Given the description of an element on the screen output the (x, y) to click on. 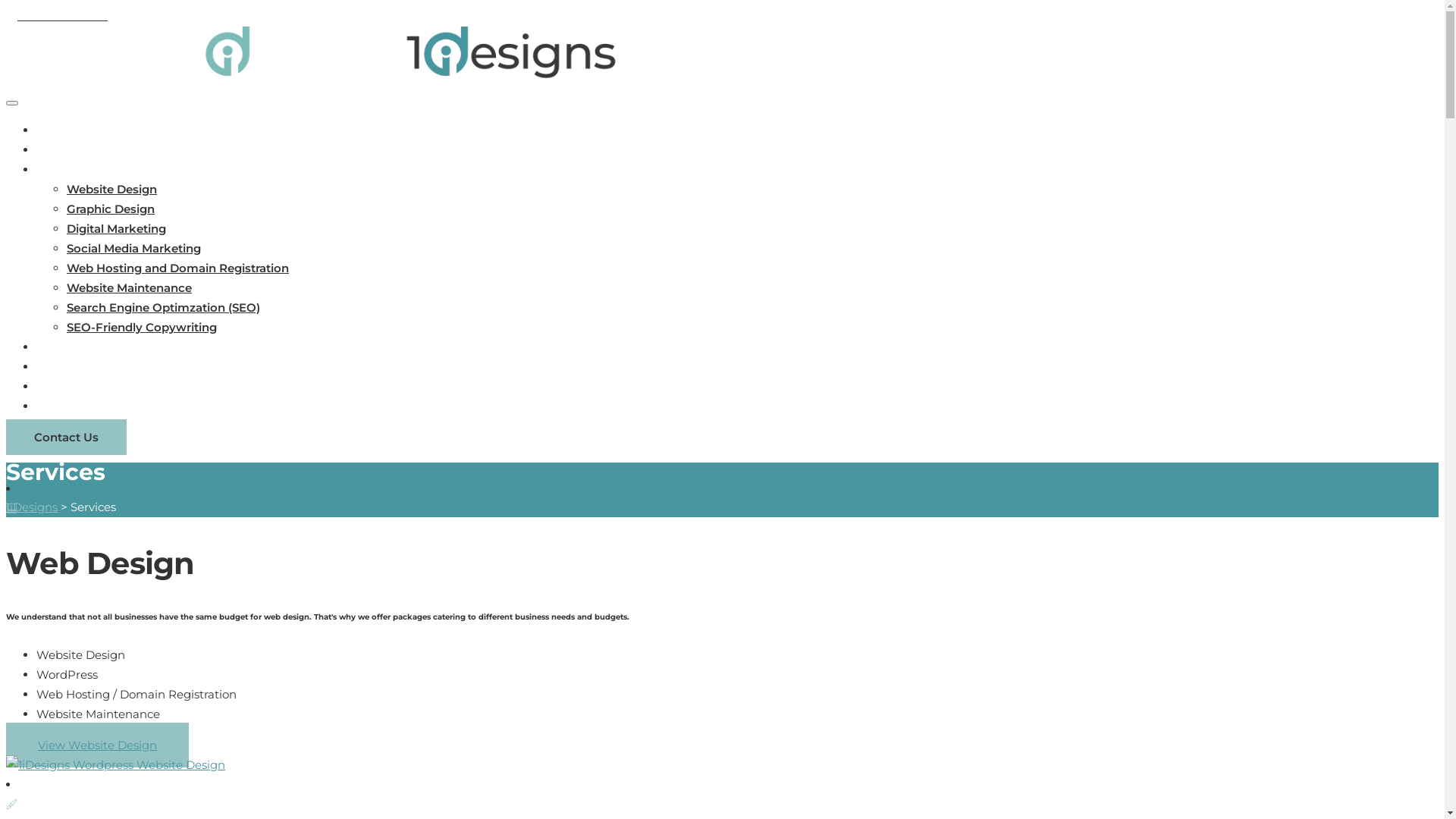
About Us Element type: text (63, 149)
Website Maintenance Element type: text (128, 287)
Services Element type: text (60, 169)
Social Media Marketing Element type: text (133, 248)
Portfolio Element type: text (61, 346)
1iDesigns Wordpress Website Design Element type: hover (115, 765)
+ 27 71 602 4553 Element type: text (56, 15)
Web Hosting and Domain Registration Element type: text (177, 267)
Blog Element type: text (49, 386)
Contact Us Element type: text (66, 437)
Search Engine Optimzation (SEO) Element type: text (163, 307)
info@1idesigns.com Element type: text (168, 15)
SEO-Friendly Copywriting Element type: text (141, 327)
View Website Design Element type: text (97, 744)
Contact Us Element type: text (68, 405)
Home Element type: text (54, 129)
Website Design Element type: text (111, 189)
Graphic Design Element type: text (110, 208)
FAQs Element type: text (52, 366)
1iDesigns Element type: text (31, 506)
Digital Marketing Element type: text (116, 228)
